Given the description of an element on the screen output the (x, y) to click on. 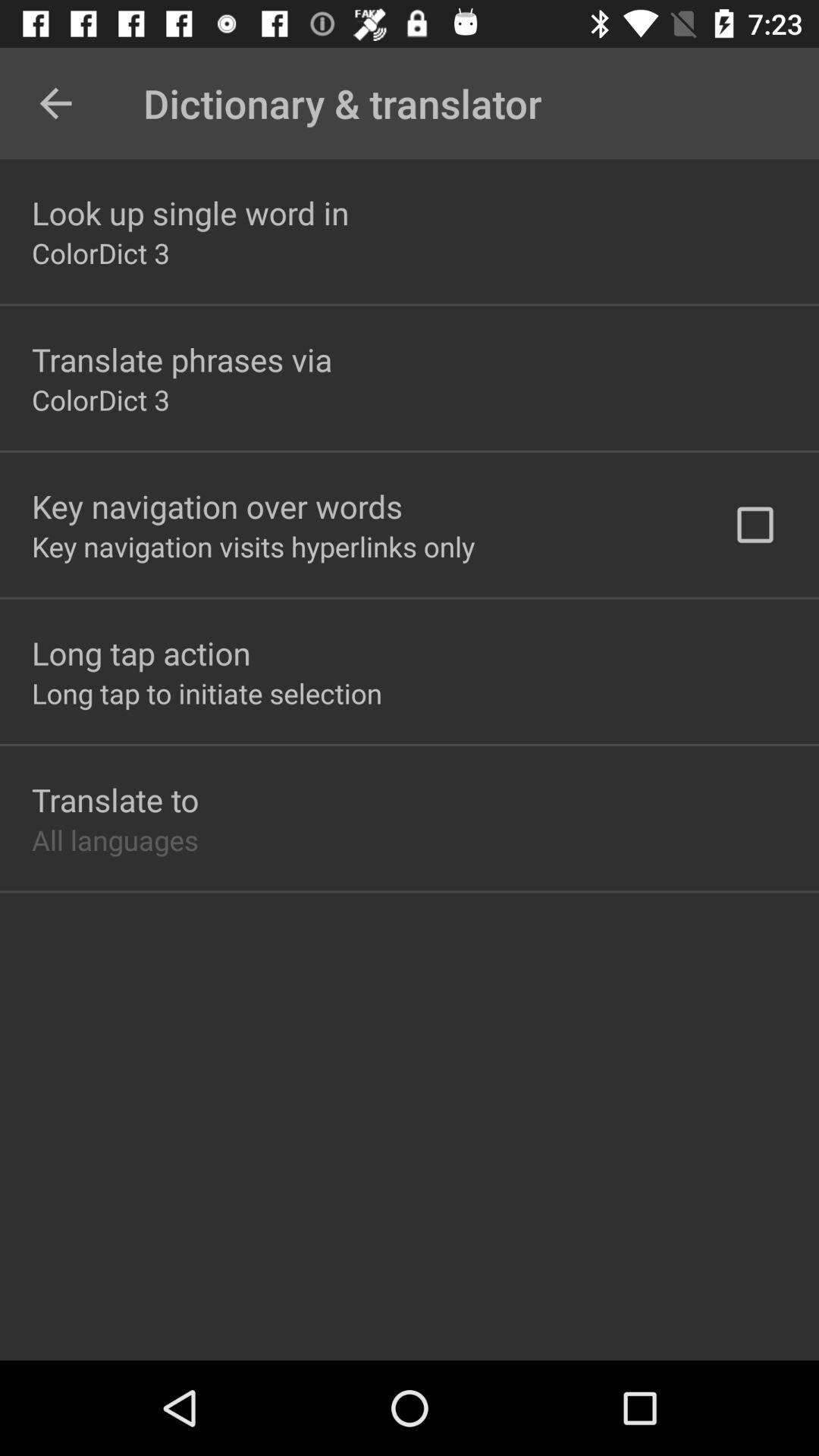
launch the look up single icon (190, 212)
